Given the description of an element on the screen output the (x, y) to click on. 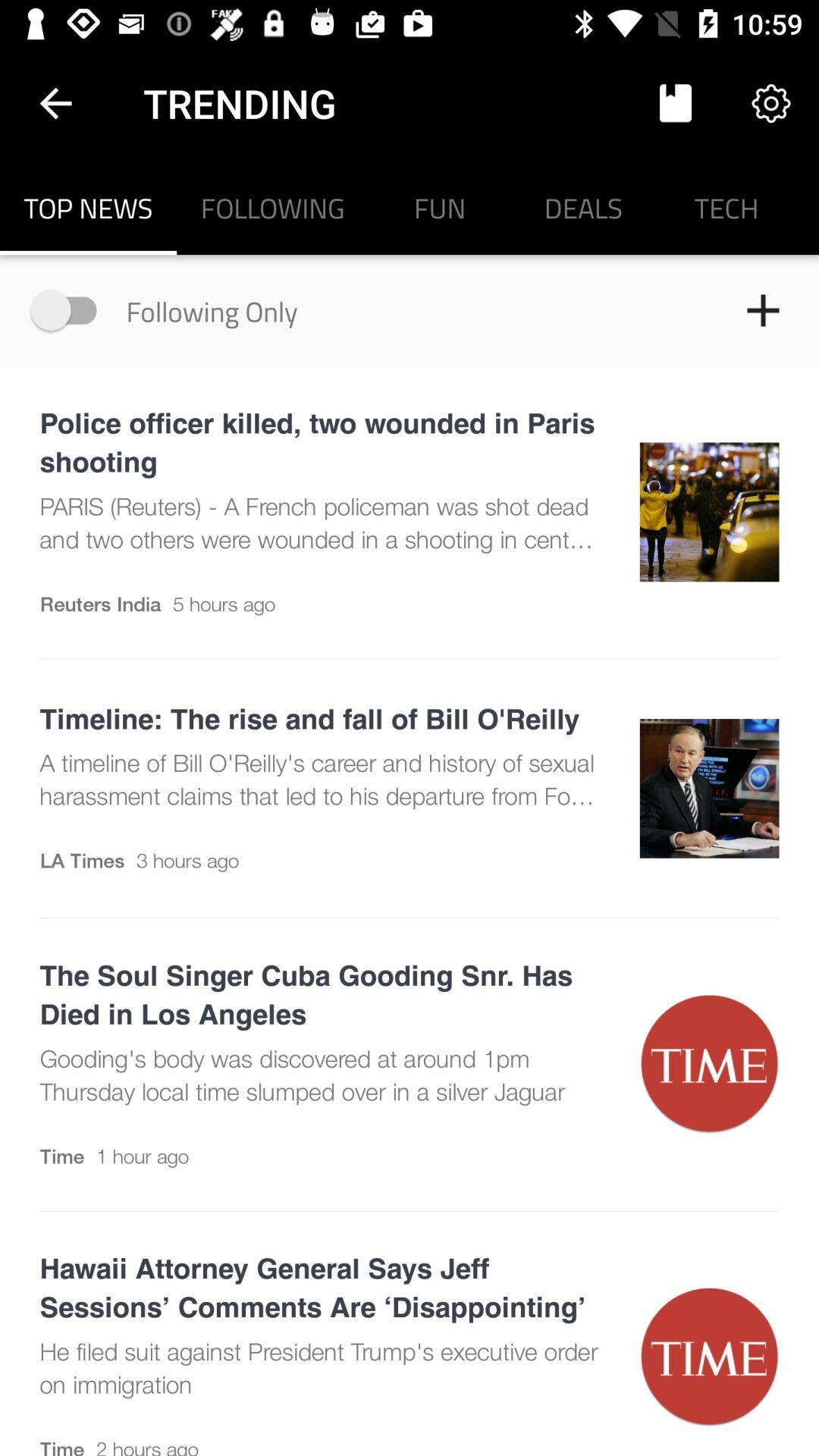
launch app next to the trending (675, 103)
